Given the description of an element on the screen output the (x, y) to click on. 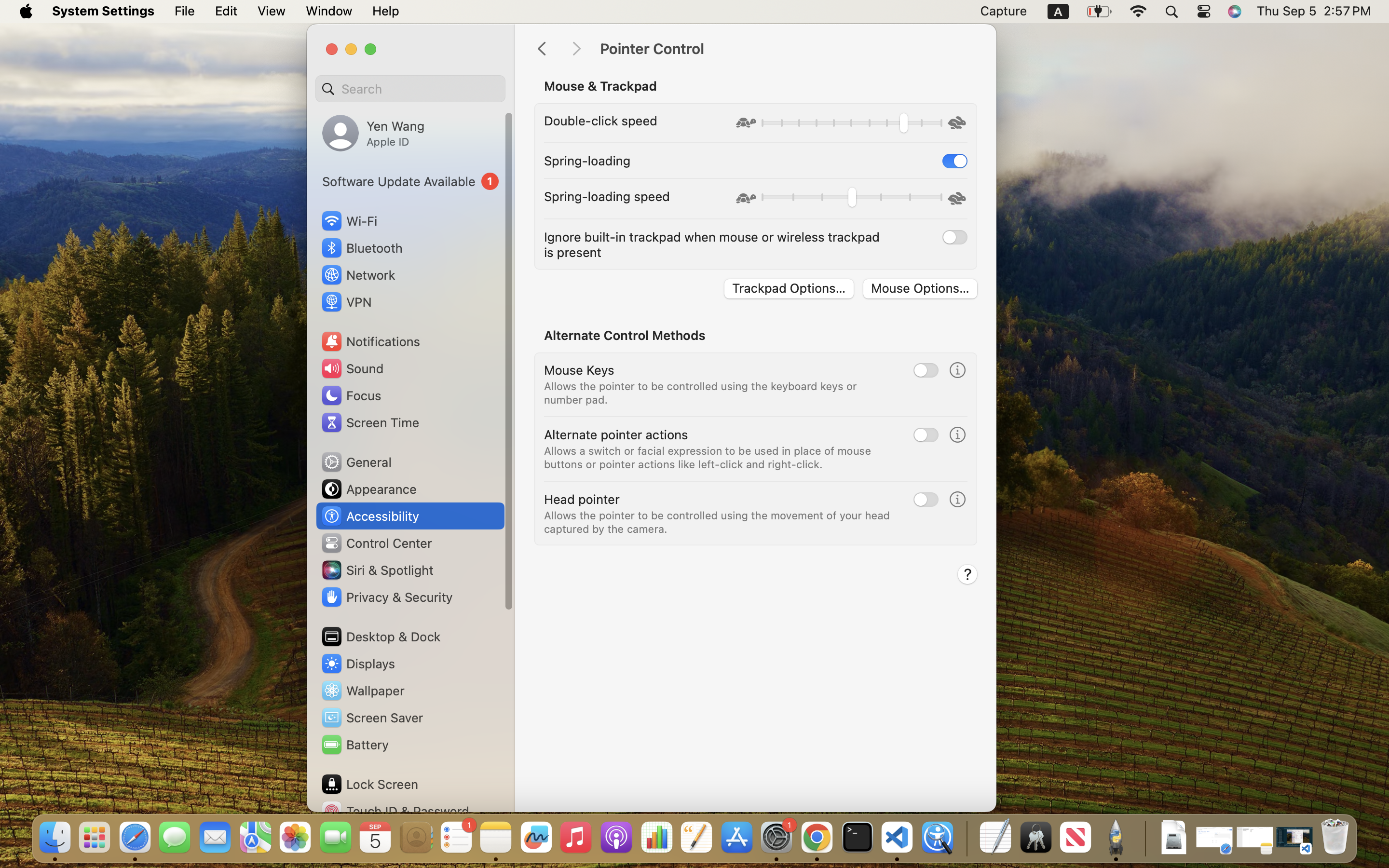
Mouse Keys Element type: AXStaticText (579, 369)
8.0 Element type: AXSlider (851, 123)
Touch ID & Password Element type: AXStaticText (394, 810)
Double-click speed Element type: AXStaticText (600, 120)
Battery Element type: AXStaticText (354, 744)
